Given the description of an element on the screen output the (x, y) to click on. 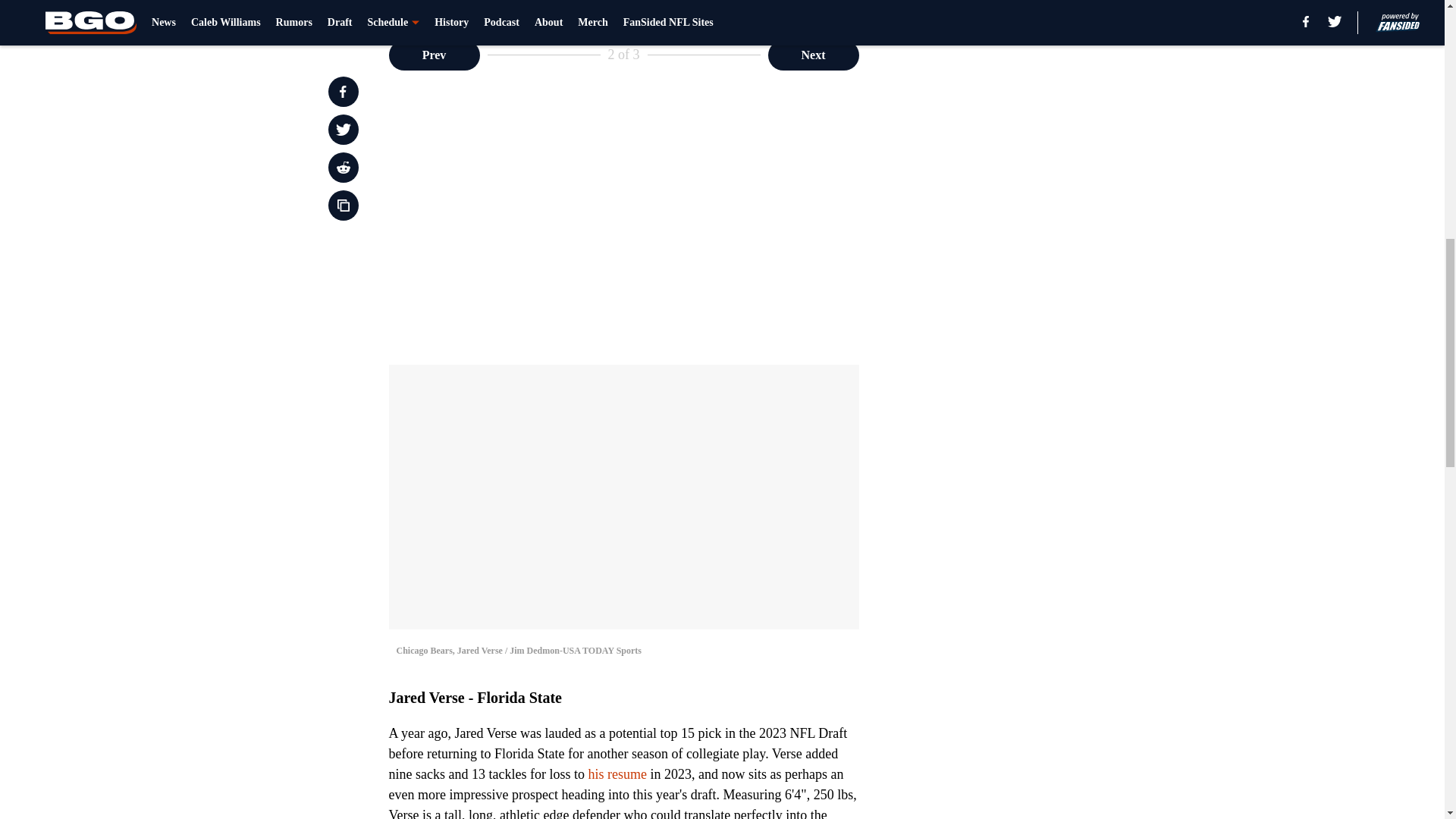
Next (813, 54)
Prev (433, 54)
his resume (617, 774)
